Given the description of an element on the screen output the (x, y) to click on. 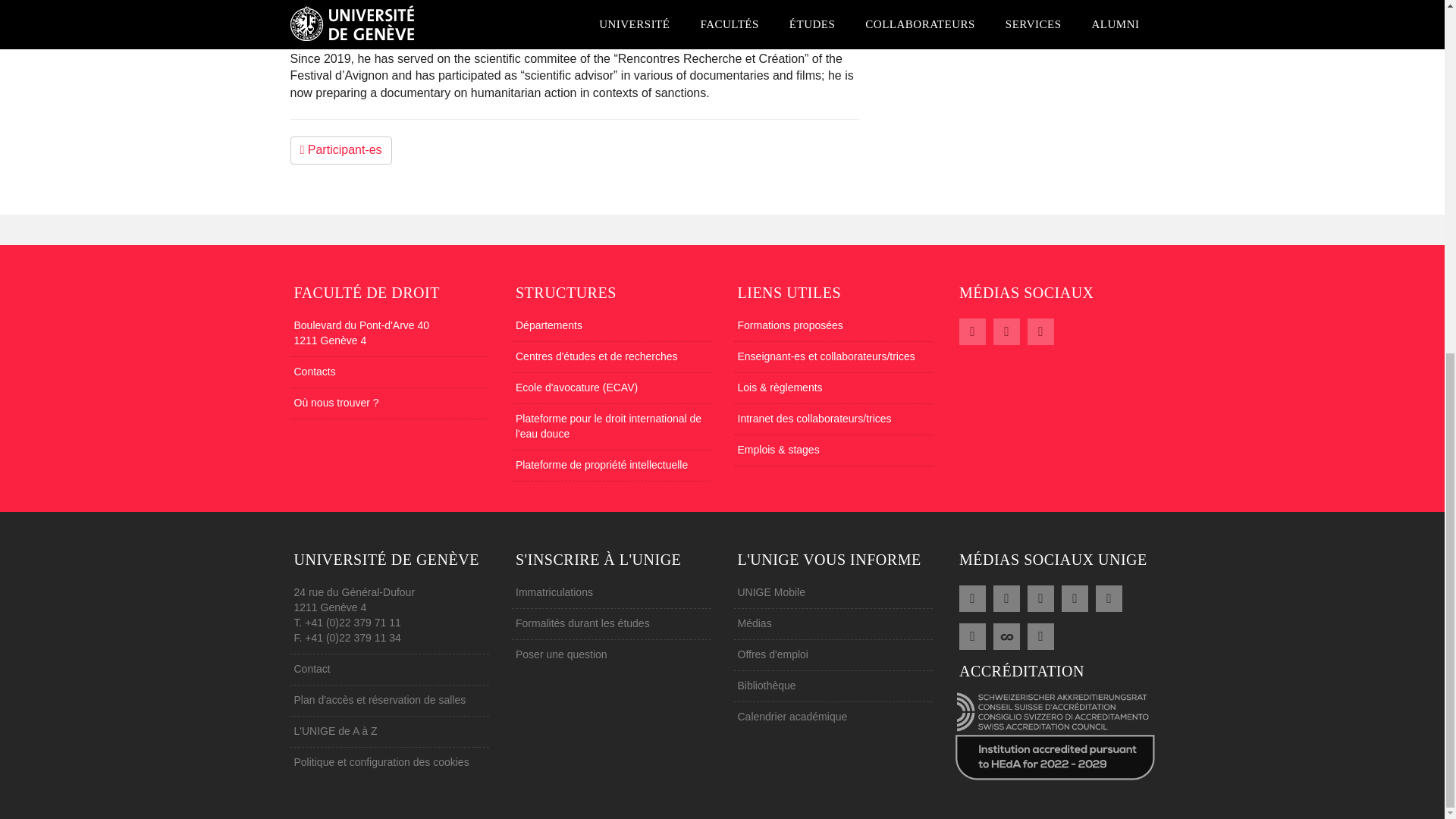
UNIGE Mobile (1040, 634)
LinkedIn (1040, 329)
Instagram (1108, 596)
Flux RSS (972, 634)
Coursera (1006, 634)
Flux RSS (972, 329)
YouTube (1075, 596)
Facebook (972, 596)
LinkedIn (1040, 596)
Facebook (1006, 329)
